Given the description of an element on the screen output the (x, y) to click on. 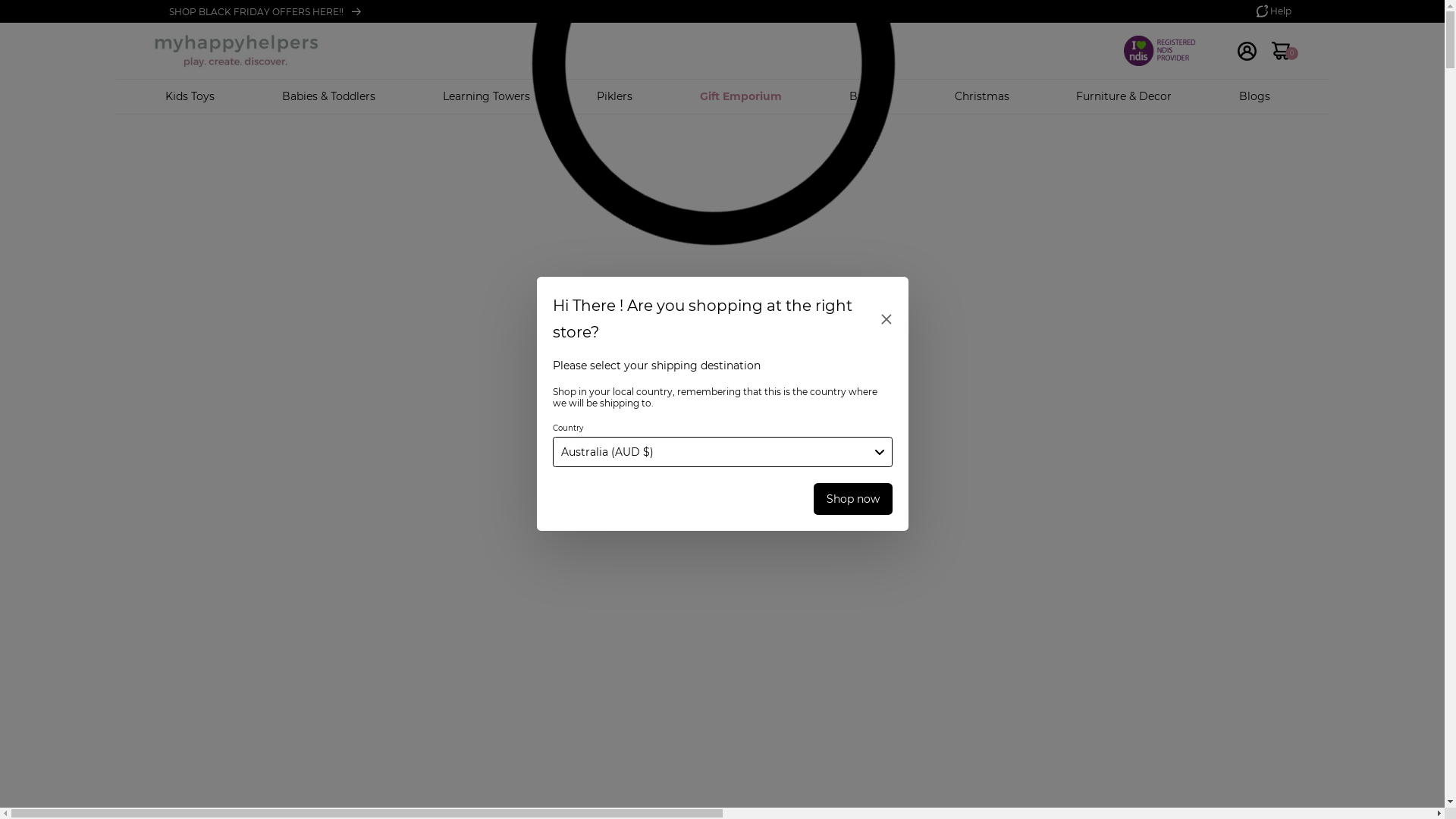
Blogs Element type: text (1254, 96)
Learning Towers Element type: text (486, 96)
Australia (AUD $) Element type: text (721, 451)
Brands Element type: text (868, 96)
Piklers Element type: text (614, 96)
Help Element type: text (1272, 10)
Furniture & Decor Element type: text (1123, 96)
Shop now Element type: text (852, 498)
Babies & Toddlers Element type: text (328, 96)
SHOP BLACK FRIDAY OFFERS HERE!! Element type: text (522, 12)
Gift Emporium Element type: text (740, 96)
Christmas Element type: text (980, 96)
Kids Toys Element type: text (189, 96)
